Given the description of an element on the screen output the (x, y) to click on. 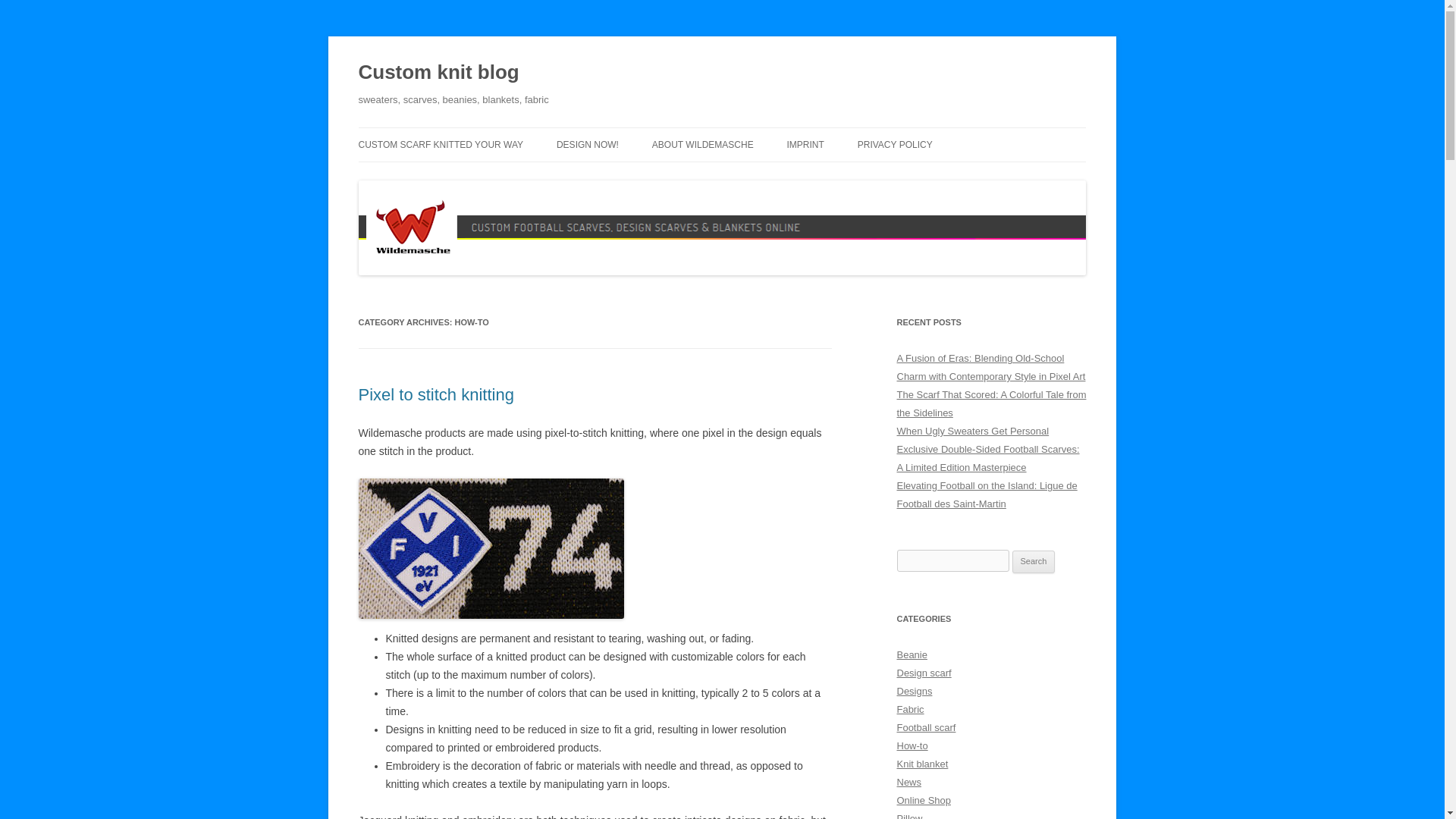
IMPRINT (805, 144)
DESIGN NOW! (587, 144)
PRIVACY POLICY (895, 144)
Custom knit blog (438, 72)
CUSTOM SCARF KNITTED YOUR WAY (440, 144)
ABOUT WILDEMASCHE (703, 144)
FOOTBALL SCARF (631, 176)
Pixel to stitch knitting (435, 394)
Search (1033, 561)
